Given the description of an element on the screen output the (x, y) to click on. 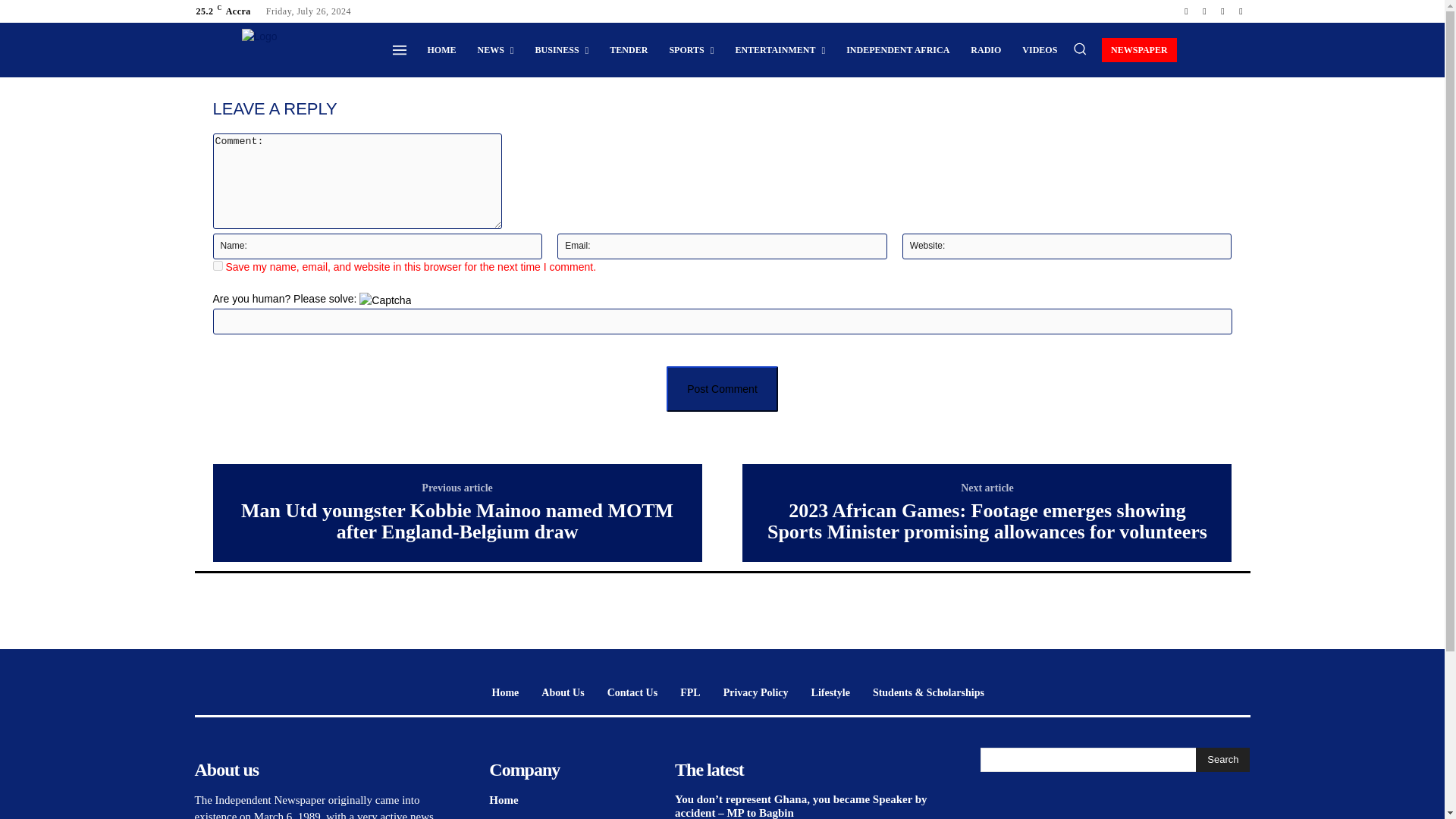
Post Comment (721, 388)
Youtube (1240, 11)
NEWSPAPER (1139, 49)
Facebook (1185, 11)
BUSINESS (561, 49)
HOME (440, 49)
Instagram (1203, 11)
yes (217, 266)
NEWS (494, 49)
Twitter (1221, 11)
